Given the description of an element on the screen output the (x, y) to click on. 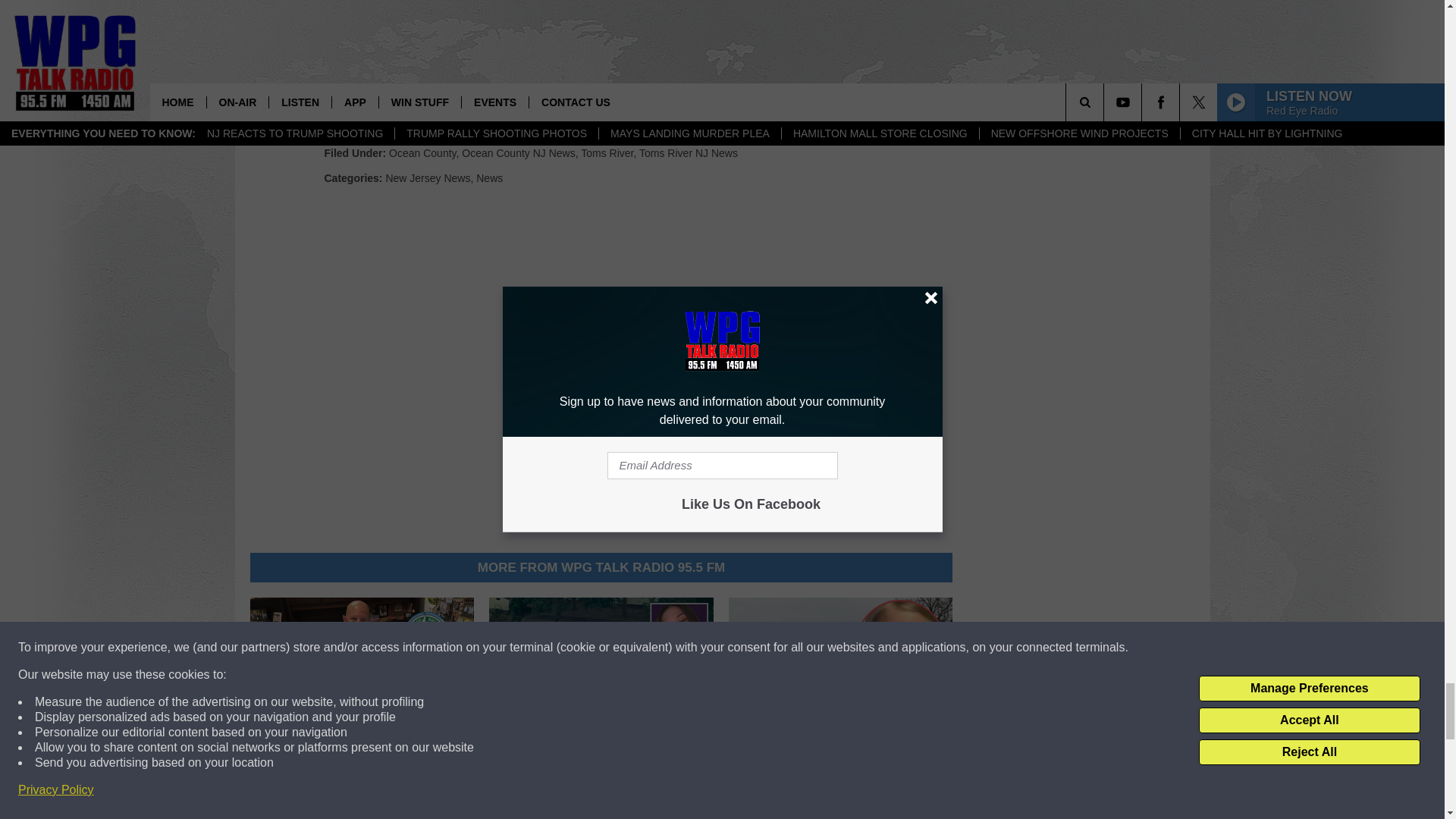
Email Address (600, 79)
